Given the description of an element on the screen output the (x, y) to click on. 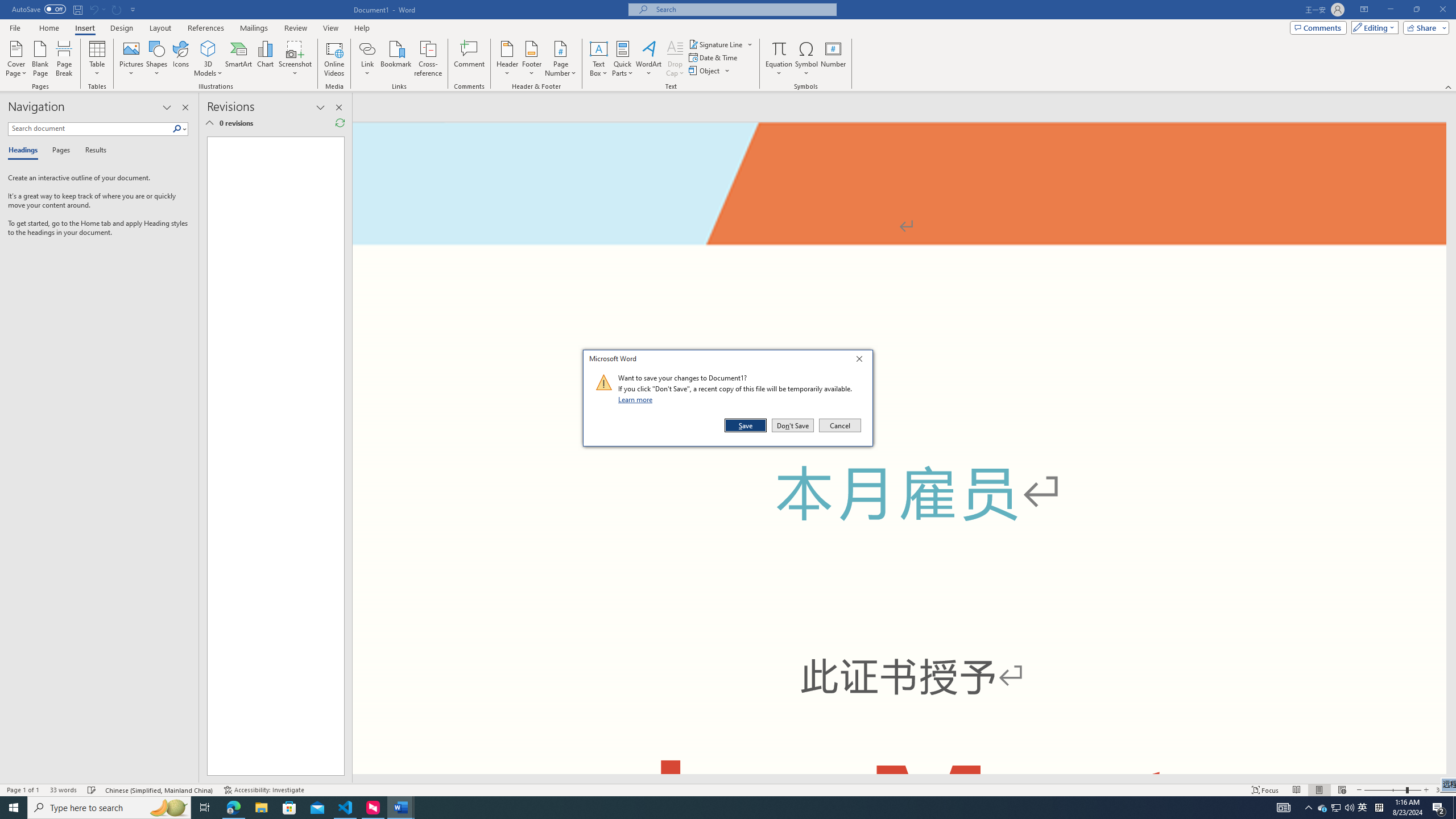
Search highlights icon opens search home window (167, 807)
Word - 2 running windows (400, 807)
Microsoft Store (289, 807)
Can't Undo (96, 9)
Drop Cap (674, 58)
Show Detailed Summary (209, 122)
Task View (204, 807)
Learn more (636, 399)
Object... (709, 69)
Start (13, 807)
